Given the description of an element on the screen output the (x, y) to click on. 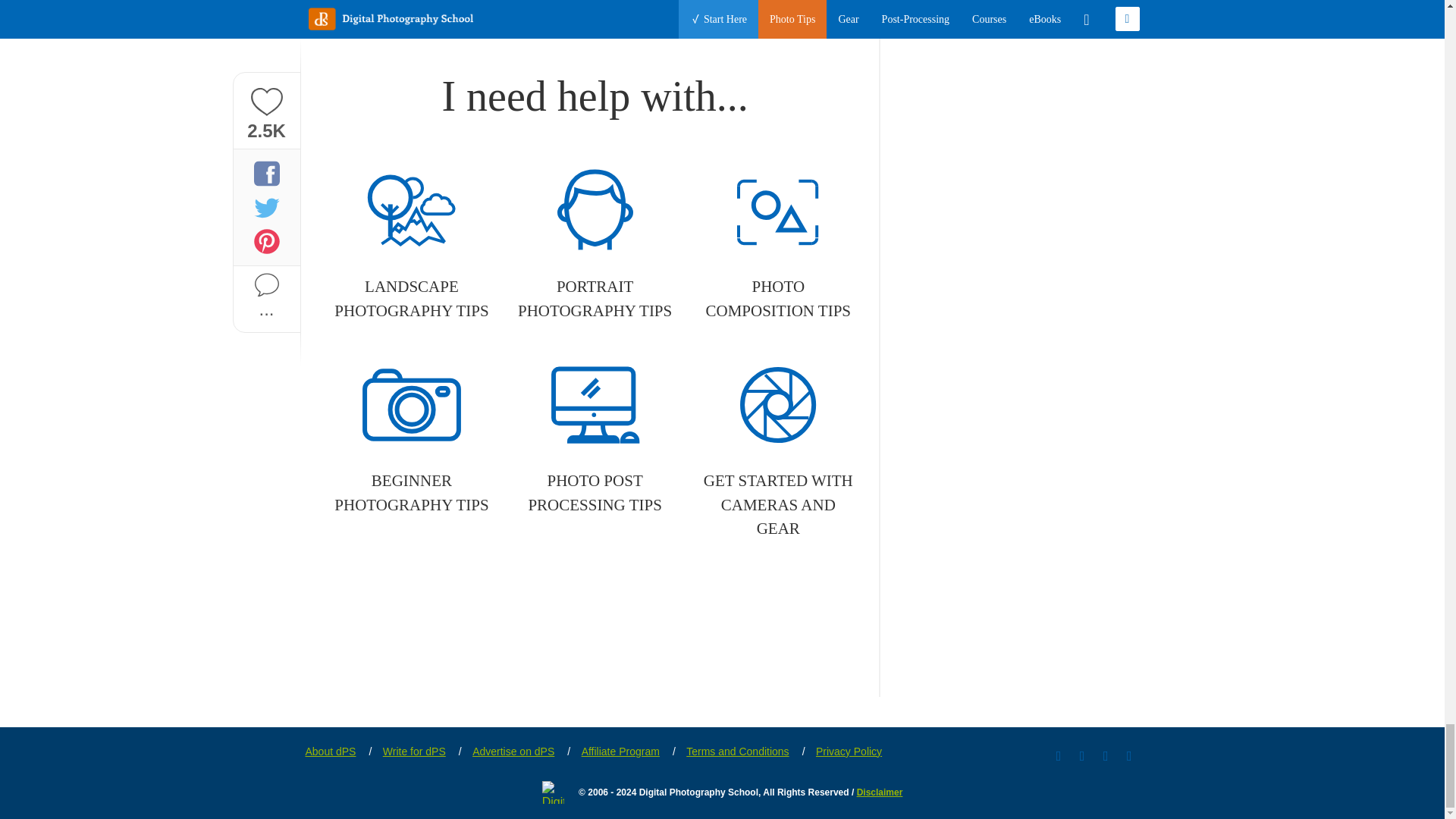
Landscape Photography Tips (411, 244)
Beginner Photography Tips (411, 438)
Portrait Photography Tips (595, 244)
Photo Post Processing Tips (595, 438)
Photo Composition Tips (778, 244)
